Given the description of an element on the screen output the (x, y) to click on. 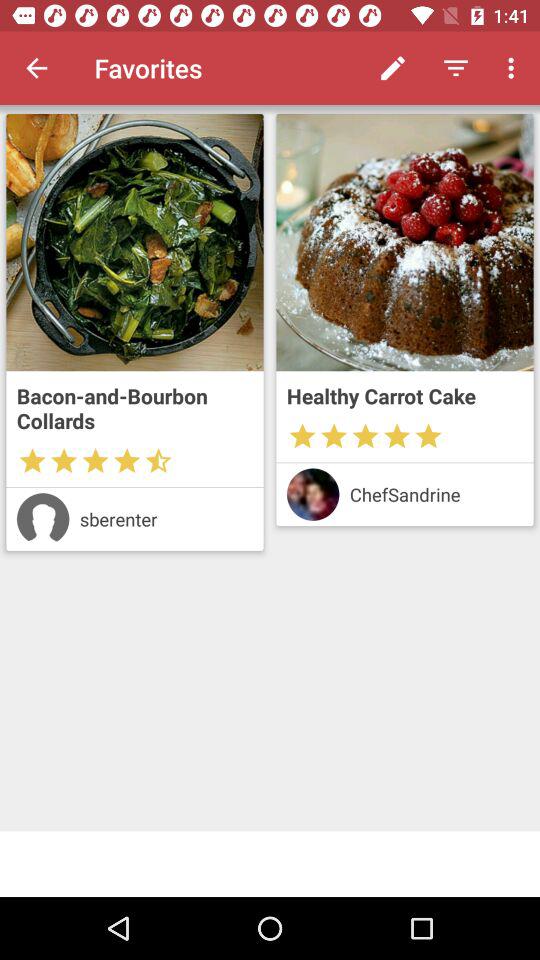
go back (36, 68)
